Given the description of an element on the screen output the (x, y) to click on. 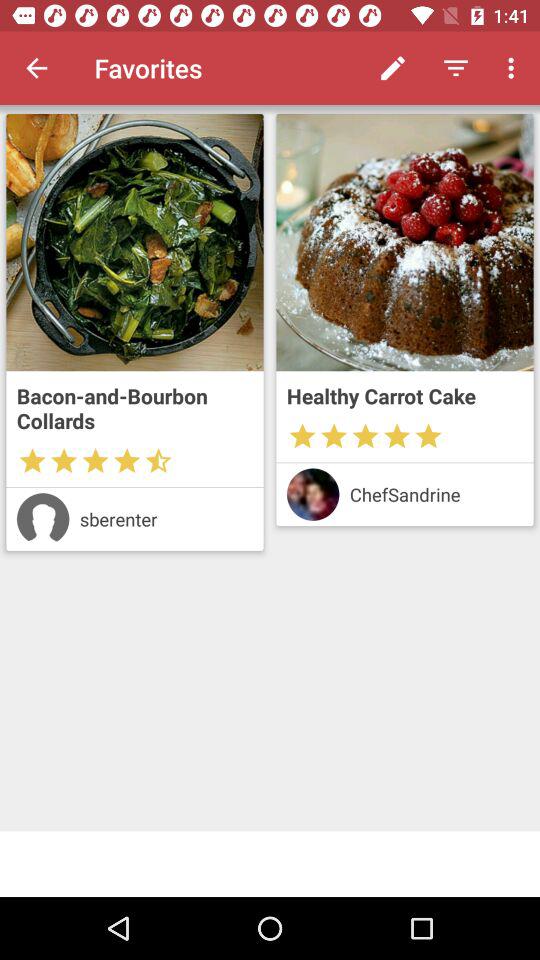
go back (36, 68)
